Given the description of an element on the screen output the (x, y) to click on. 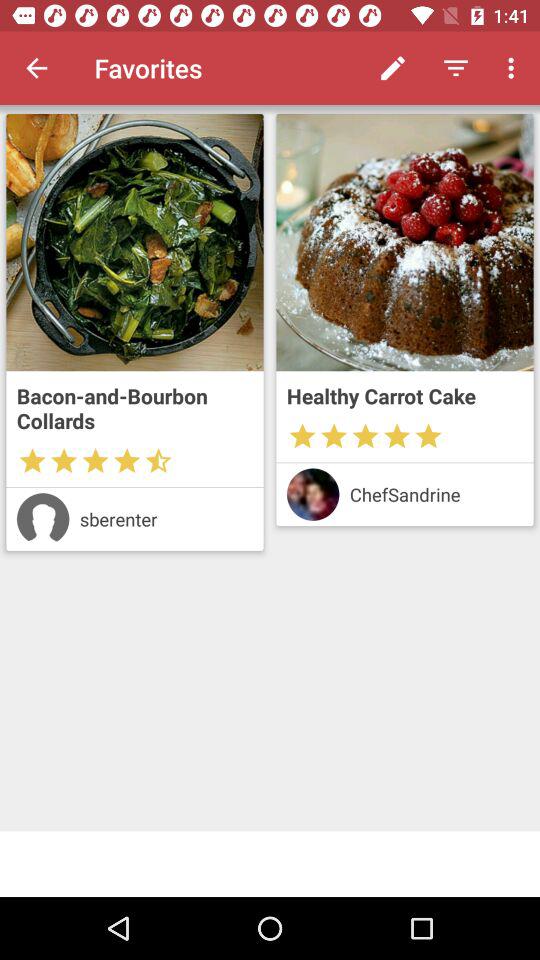
go back (36, 68)
